Given the description of an element on the screen output the (x, y) to click on. 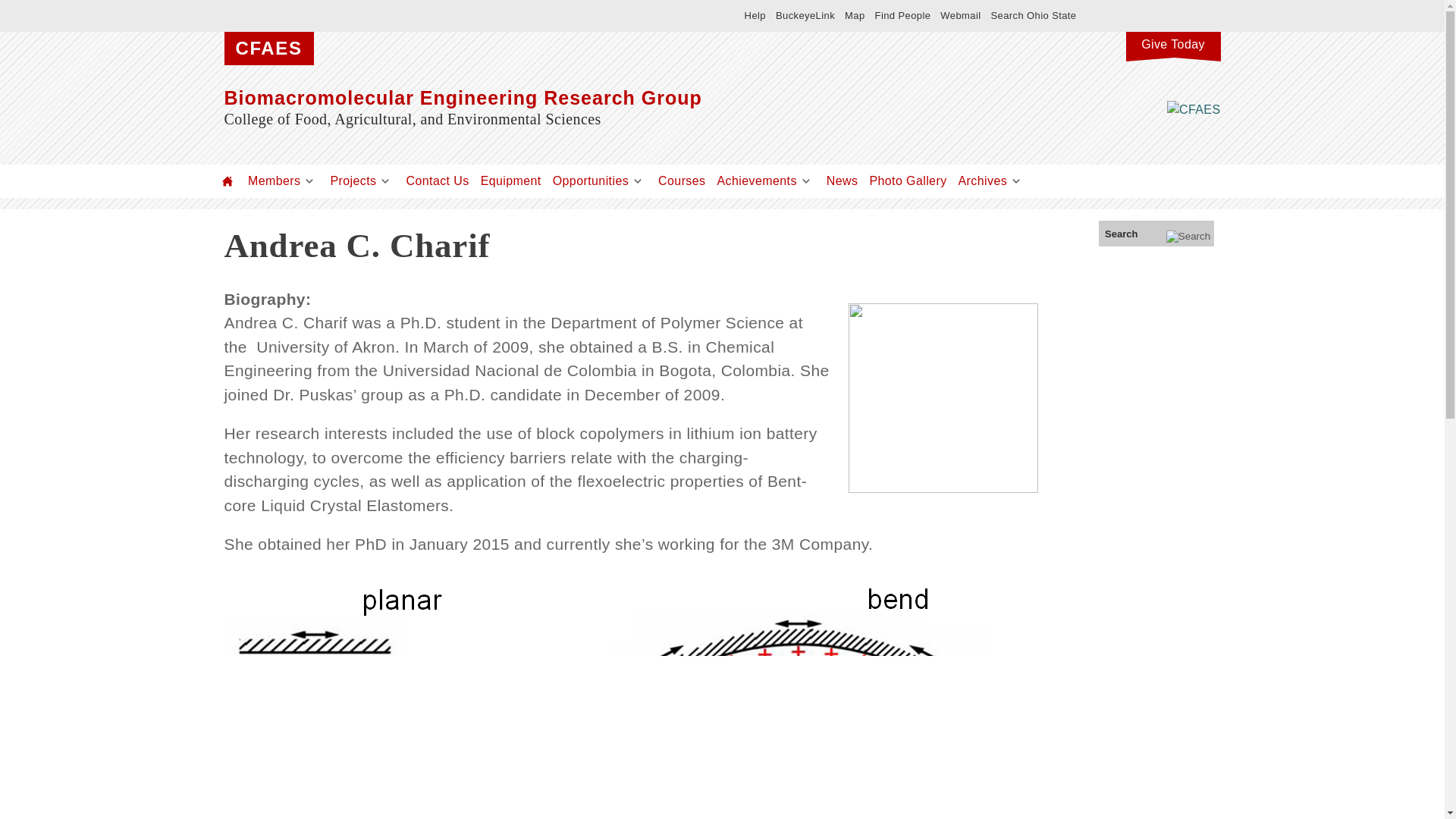
Projects (352, 180)
Contact Us (437, 180)
Biomacromolecular Engineering Research Group (572, 97)
Find People (903, 15)
Equipment (510, 180)
The Ohio State University (399, 15)
Opportunities (590, 180)
Map (854, 15)
Home (572, 97)
Search (1155, 233)
Search Ohio State (1032, 15)
CFAES (269, 48)
Enter the terms you wish to search for. (1155, 233)
Home (226, 180)
